Given the description of an element on the screen output the (x, y) to click on. 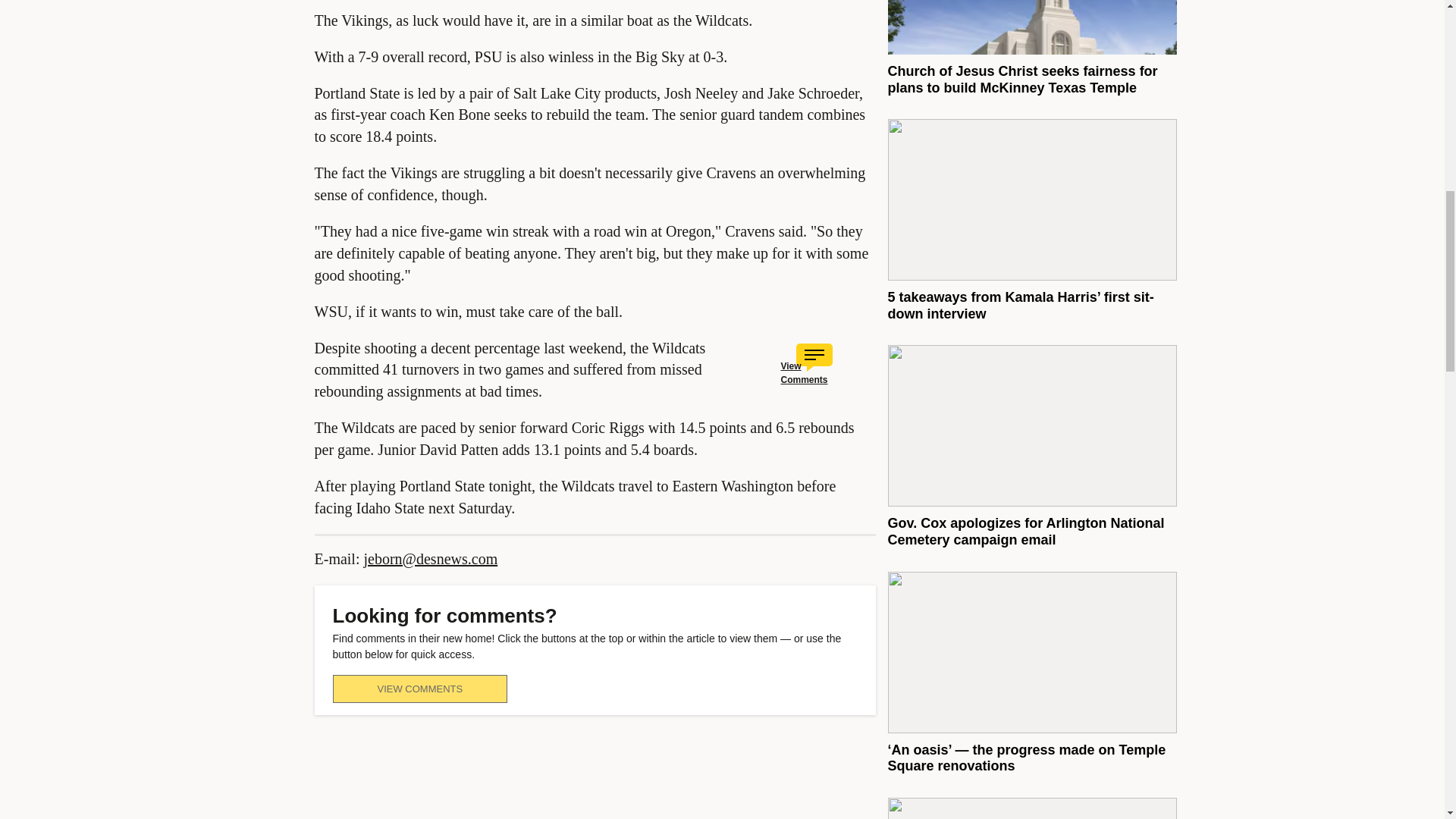
VIEW COMMENTS (418, 688)
